Given the description of an element on the screen output the (x, y) to click on. 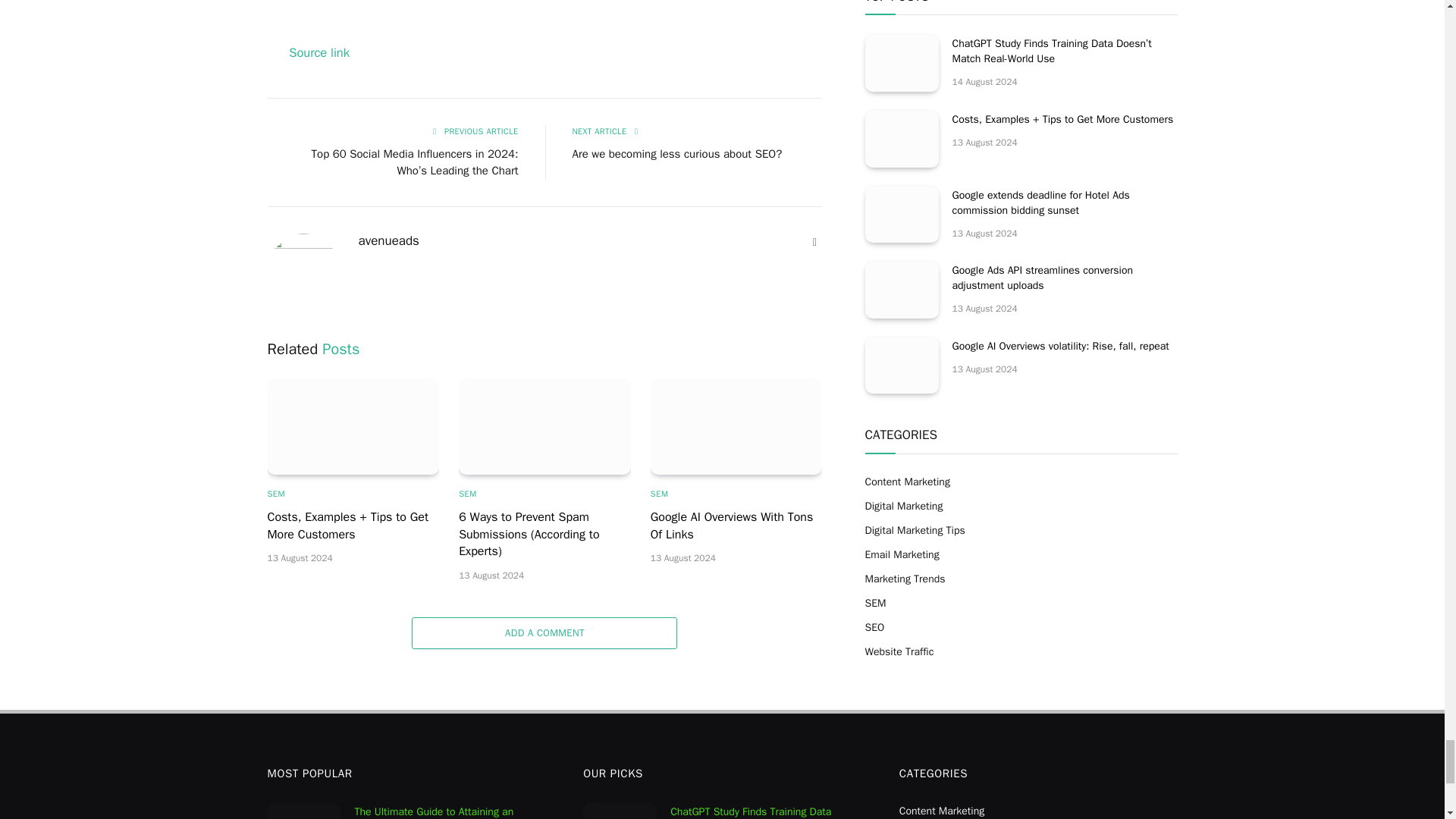
Website (814, 242)
Posts by avenueads (388, 240)
Google AI Overviews With Tons Of Links (736, 426)
